Given the description of an element on the screen output the (x, y) to click on. 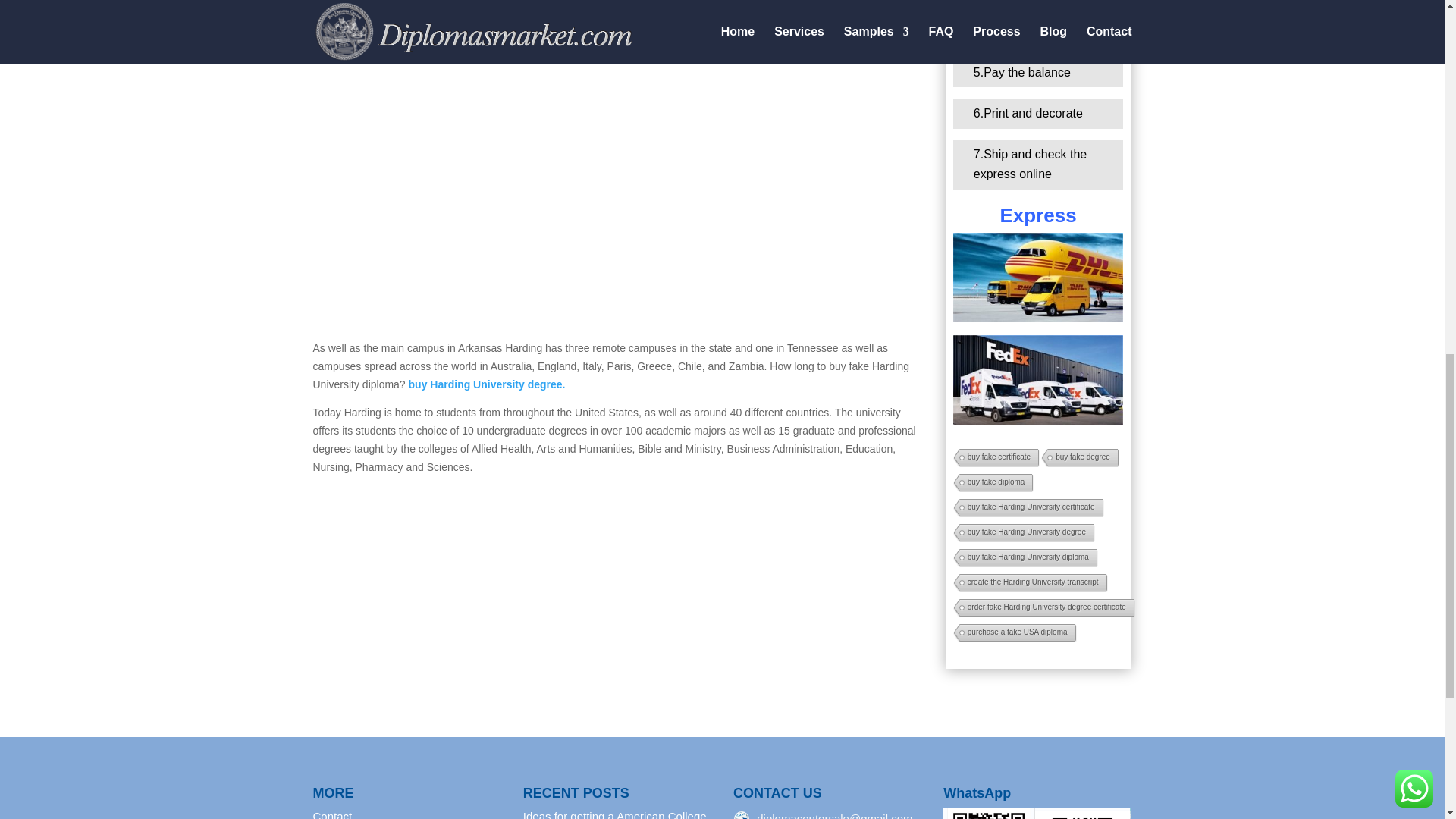
How much Apply for fake Harding University diploma online? (1038, 277)
How much Apply for fake Harding University diploma online? (1038, 379)
How much Apply for fake Harding University diploma online? (1037, 813)
buy Harding University degree. (487, 384)
